Given the description of an element on the screen output the (x, y) to click on. 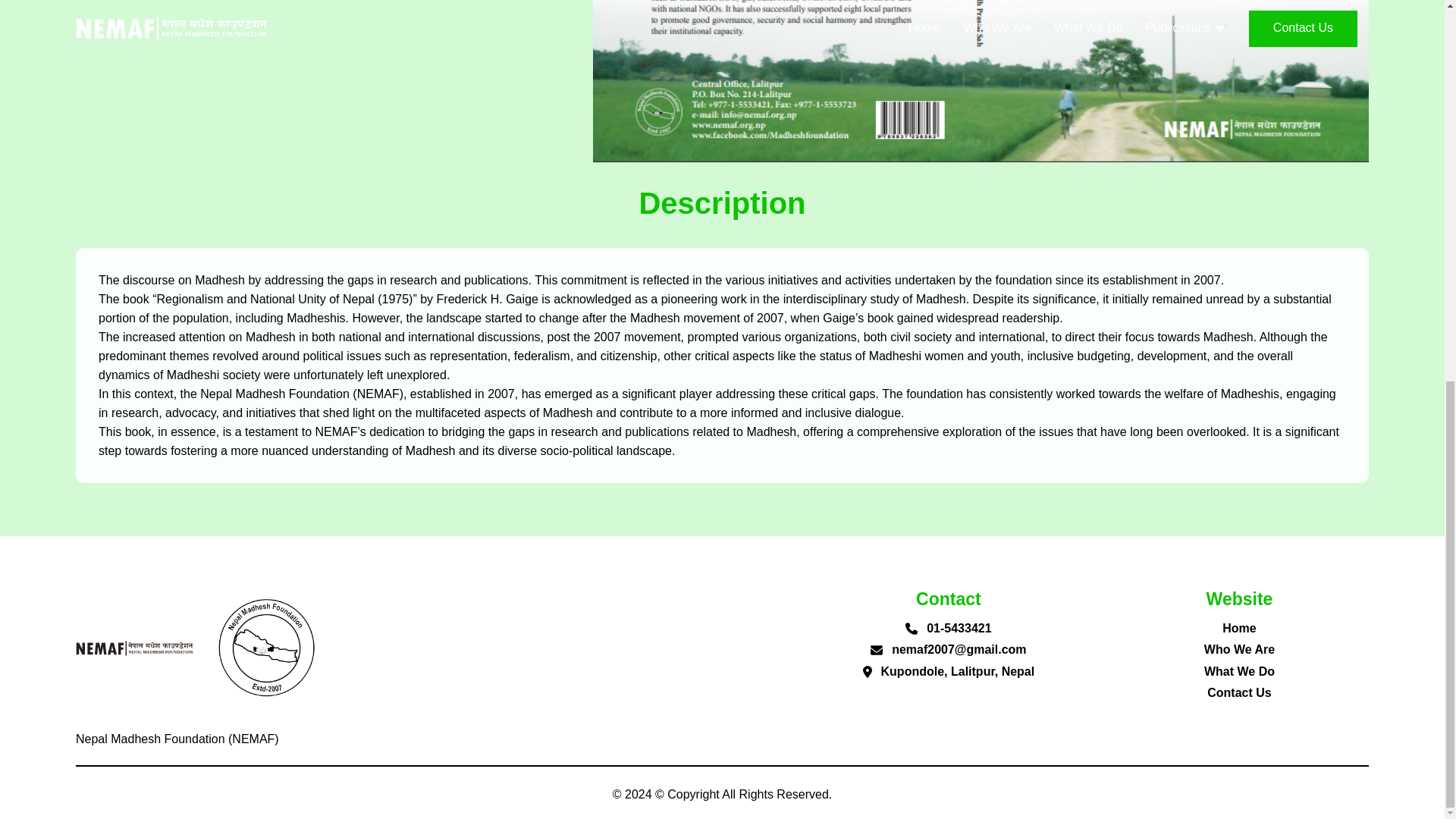
Home (1239, 627)
What We Do (1239, 671)
Who We Are (1239, 649)
Contact Us (1239, 692)
